Given the description of an element on the screen output the (x, y) to click on. 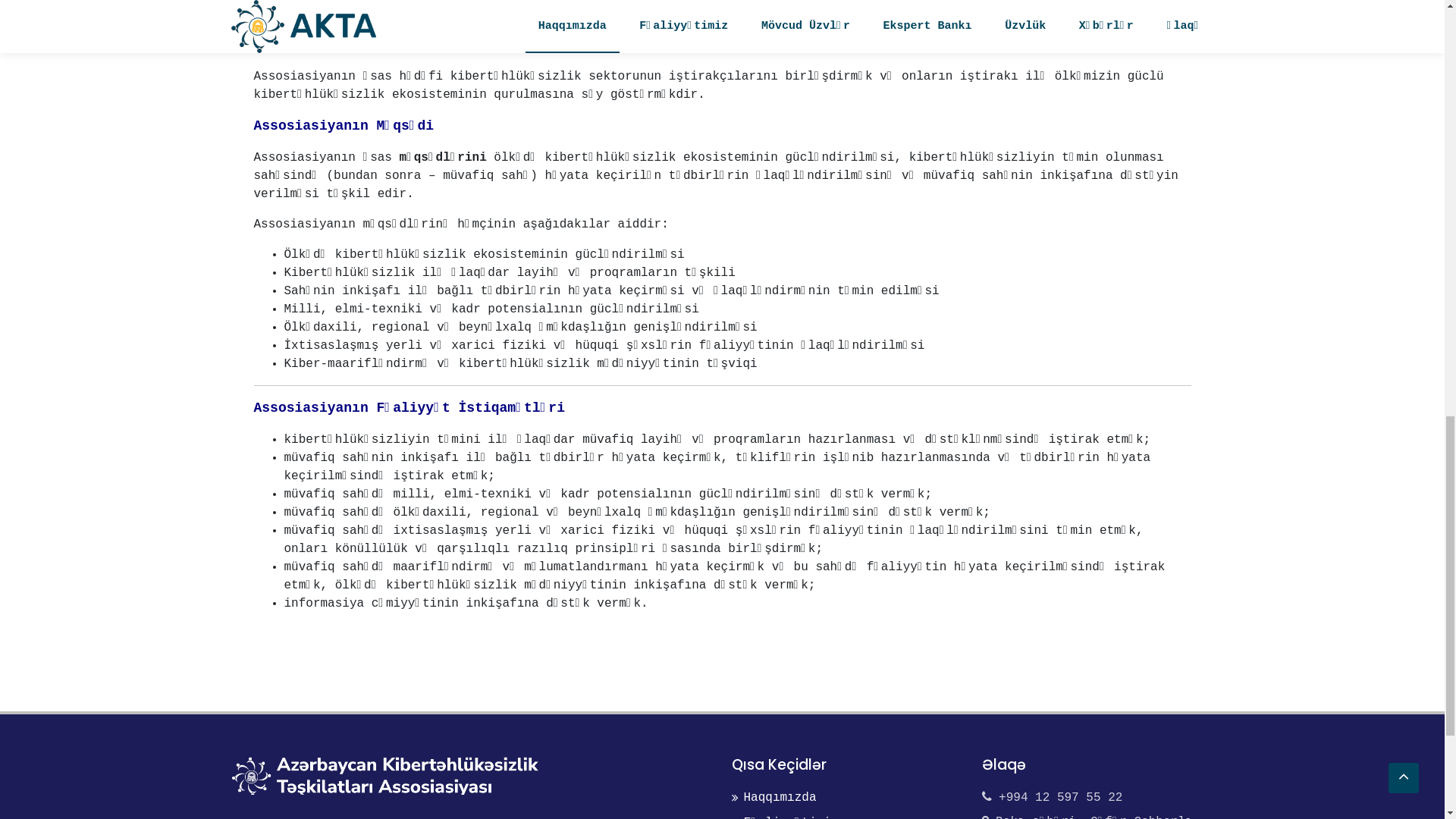
EN Element type: text (426, 19)
AZ Element type: text (391, 19)
